Given the description of an element on the screen output the (x, y) to click on. 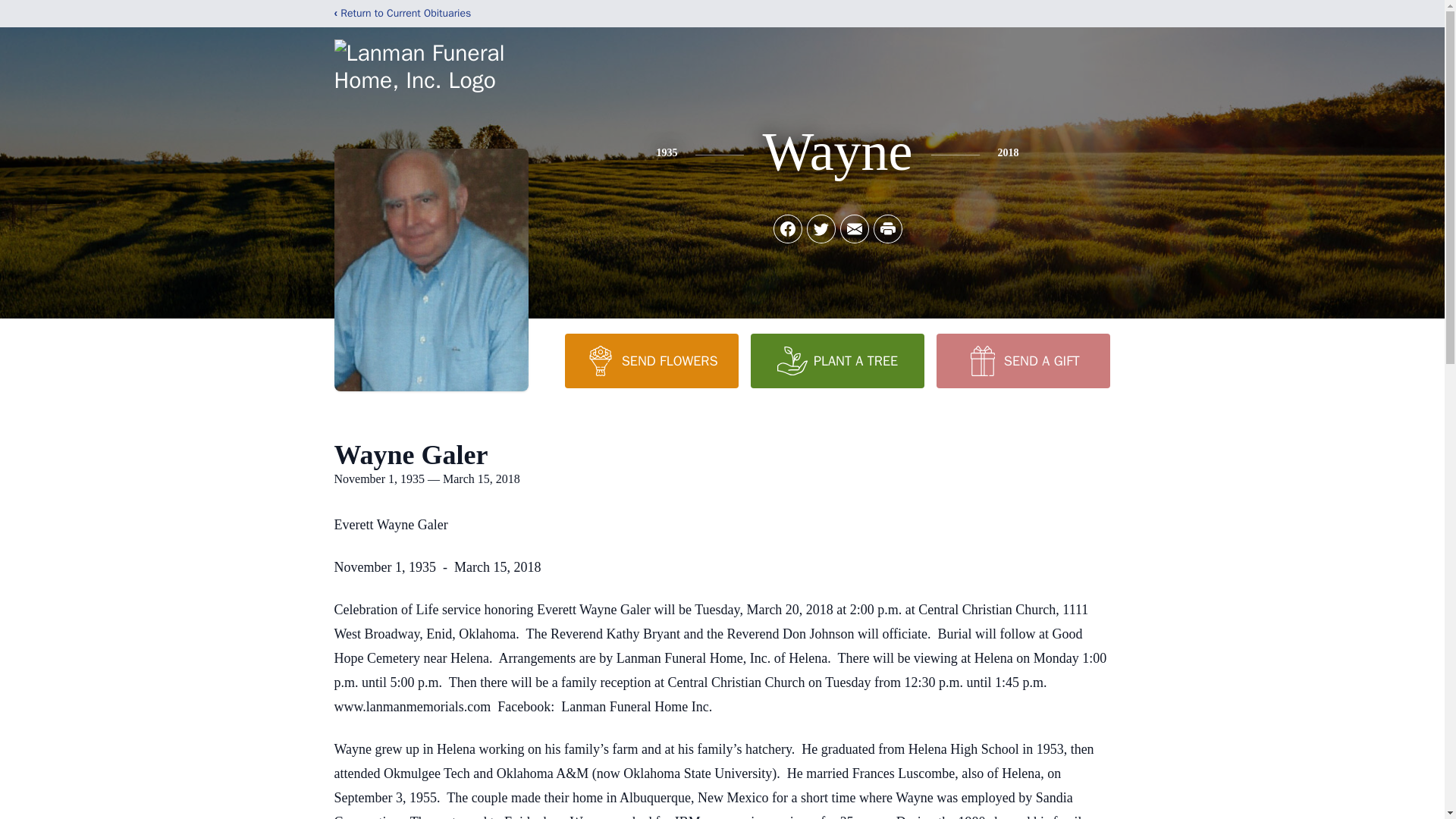
SEND A GIFT (1022, 360)
PLANT A TREE (837, 360)
SEND FLOWERS (651, 360)
